Given the description of an element on the screen output the (x, y) to click on. 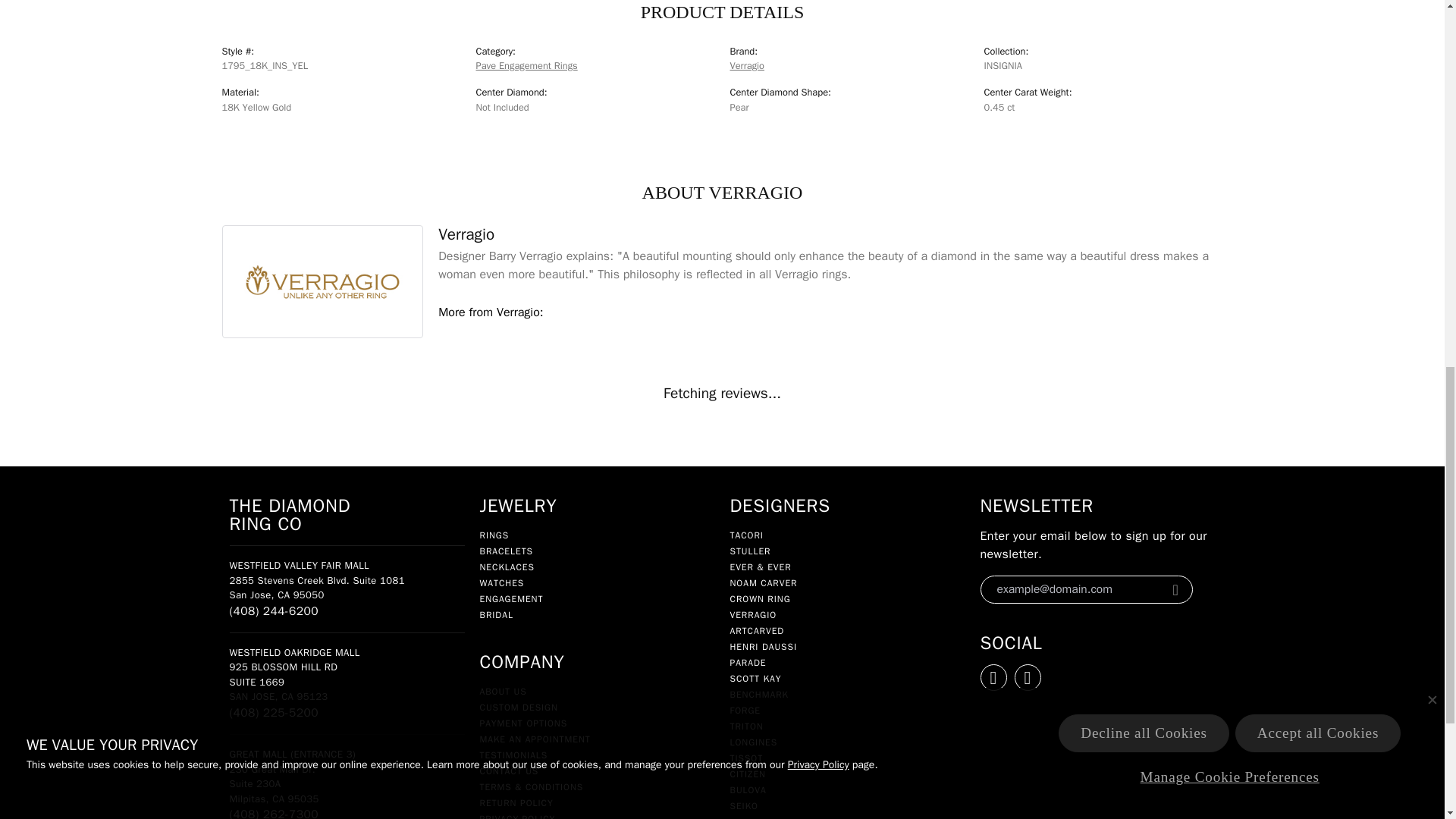
Enter your email address to subscribe (1074, 589)
